Given the description of an element on the screen output the (x, y) to click on. 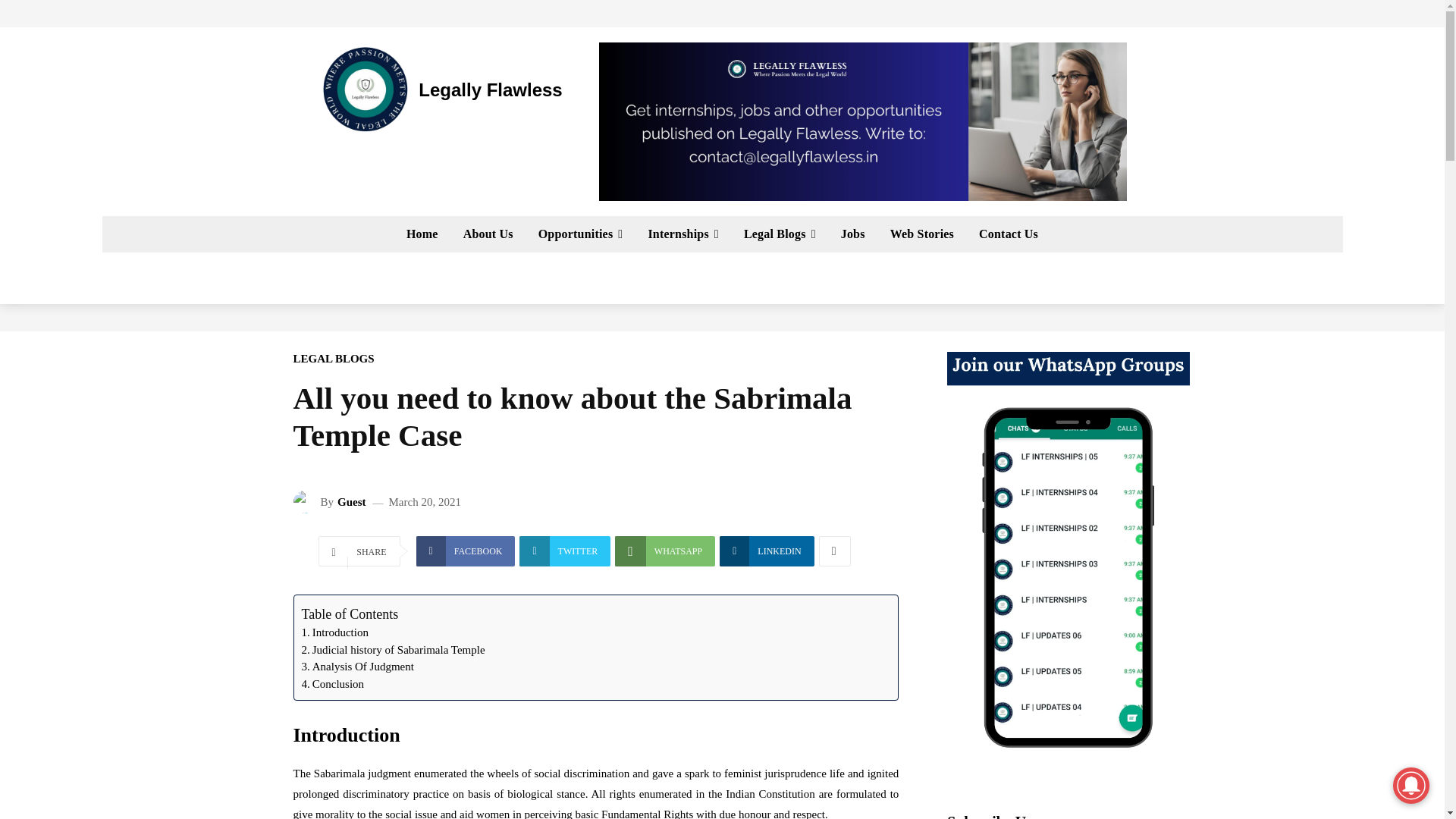
Twitter (564, 551)
WhatsApp (664, 551)
Guest (306, 501)
Linkedin (766, 551)
Home (422, 234)
About Us (488, 234)
Facebook (465, 551)
Legally Flawless (439, 89)
More (834, 551)
Opportunities (580, 234)
